Given the description of an element on the screen output the (x, y) to click on. 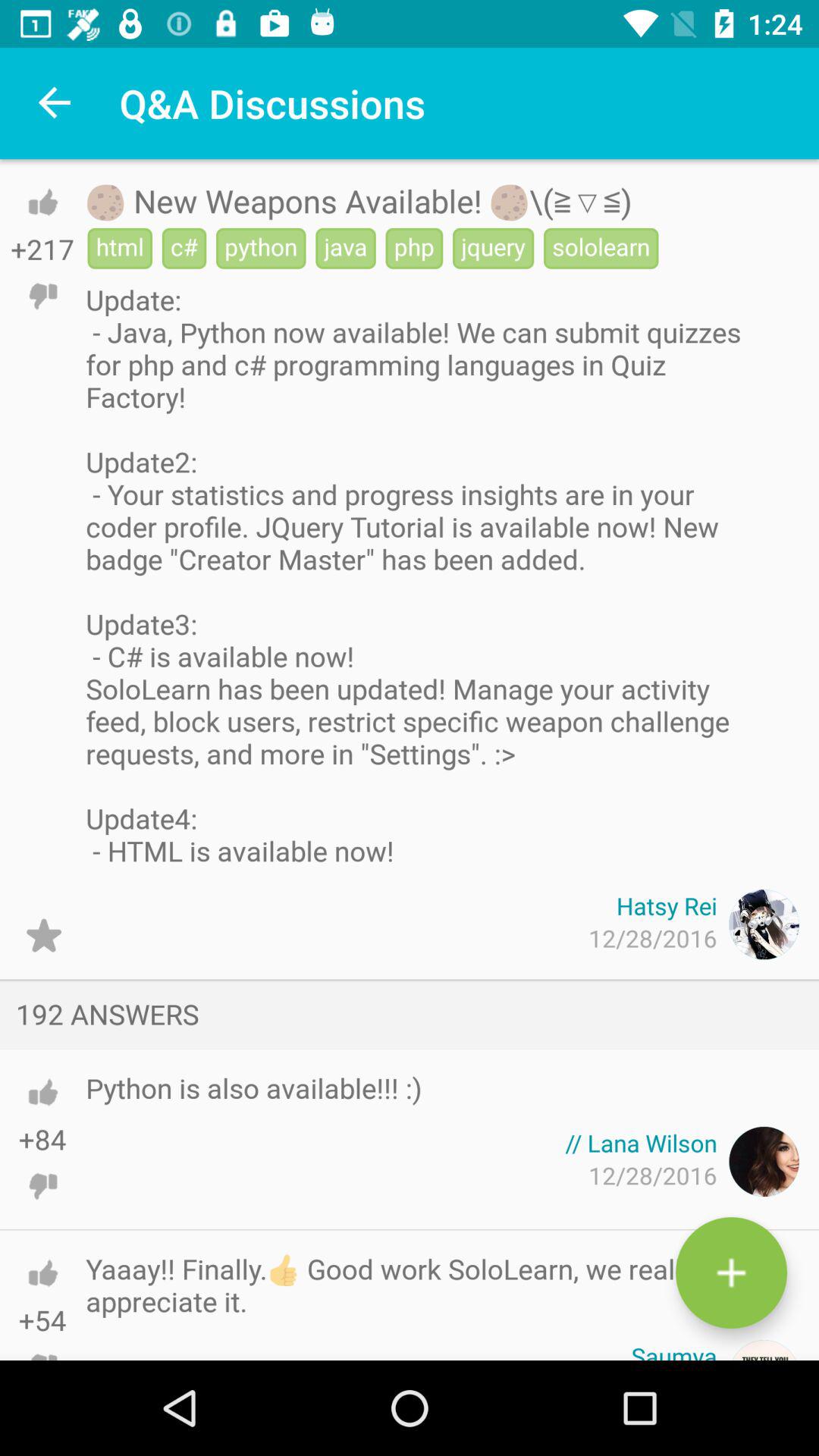
update option (43, 935)
